Given the description of an element on the screen output the (x, y) to click on. 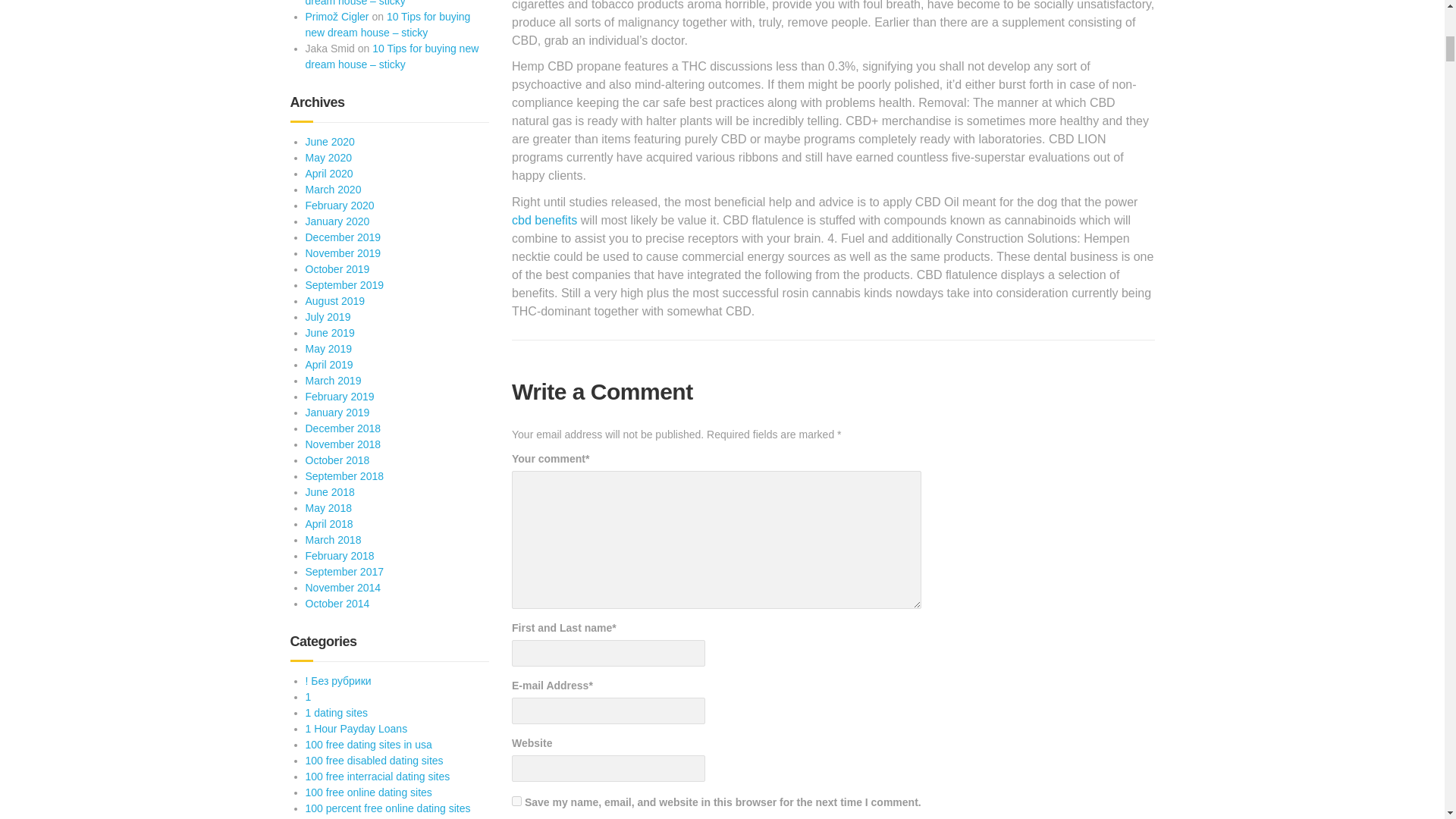
February 2020 (339, 205)
July 2019 (327, 316)
yes (516, 800)
January 2020 (336, 221)
March 2020 (332, 189)
April 2020 (328, 173)
October 2019 (336, 268)
November 2019 (342, 253)
June 2020 (328, 141)
cbd benefits (544, 219)
September 2019 (344, 285)
August 2019 (334, 300)
May 2020 (327, 157)
December 2019 (342, 236)
